Given the description of an element on the screen output the (x, y) to click on. 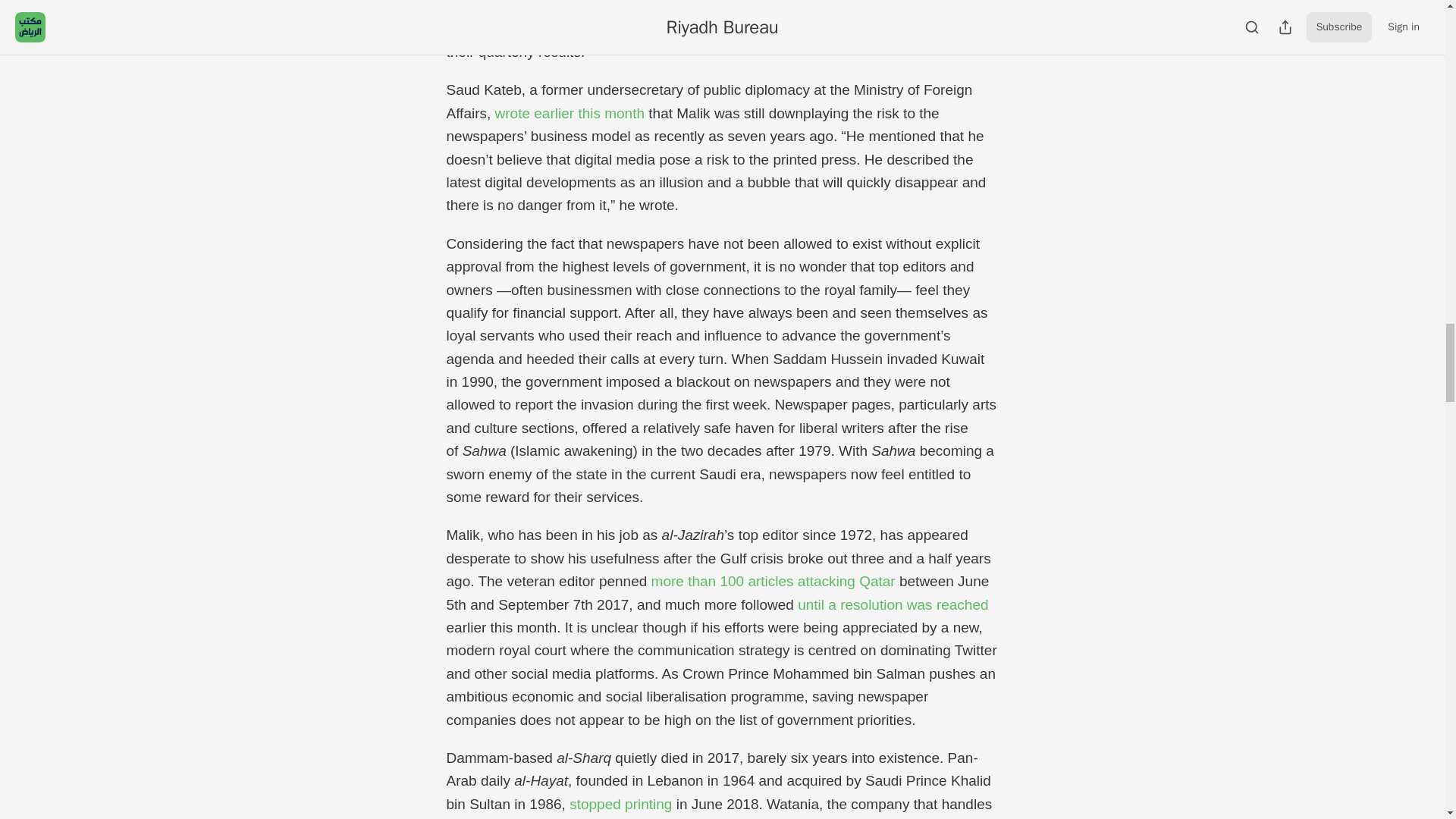
stopped printing (620, 804)
blames (488, 6)
more than 100 articles attacking Qatar (772, 580)
until a resolution was reached (892, 604)
wrote earlier this month (570, 113)
